Given the description of an element on the screen output the (x, y) to click on. 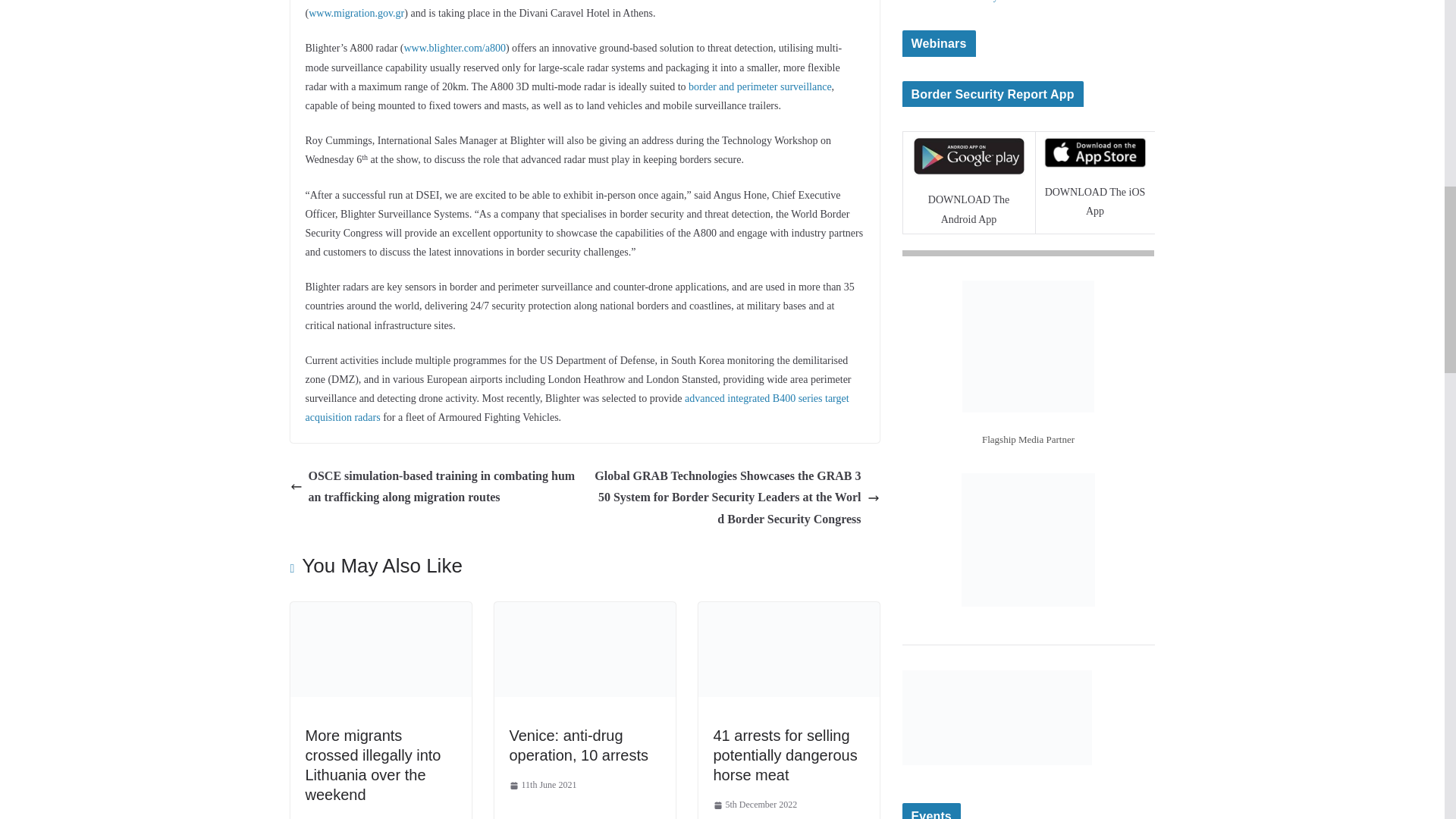
Venice: anti-drug operation, 10 arrests (585, 612)
41 arrests for selling potentially dangerous horse meat (788, 612)
41 arrests for selling potentially dangerous horse meat (785, 754)
advanced integrated B400 series target acquisition radars (576, 408)
21st July 2021 (336, 817)
12:27 pm (542, 785)
9:15 am (754, 805)
2:19 pm (336, 817)
border and perimeter surveillance (759, 86)
Venice: anti-drug operation, 10 arrests (578, 745)
